Given the description of an element on the screen output the (x, y) to click on. 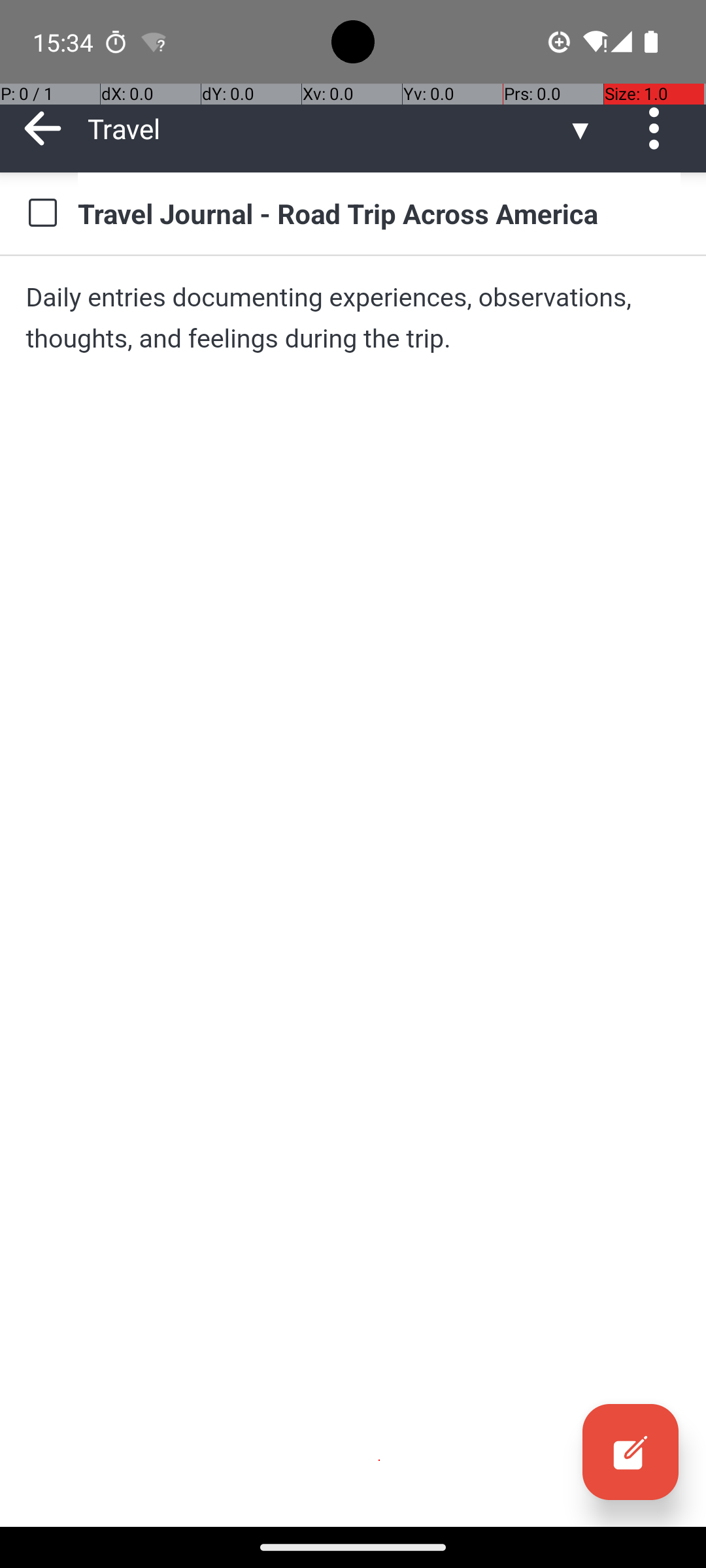
Daily entries documenting experiences, observations, thoughts, and feelings during the trip. Element type: android.widget.TextView (352, 317)
